Given the description of an element on the screen output the (x, y) to click on. 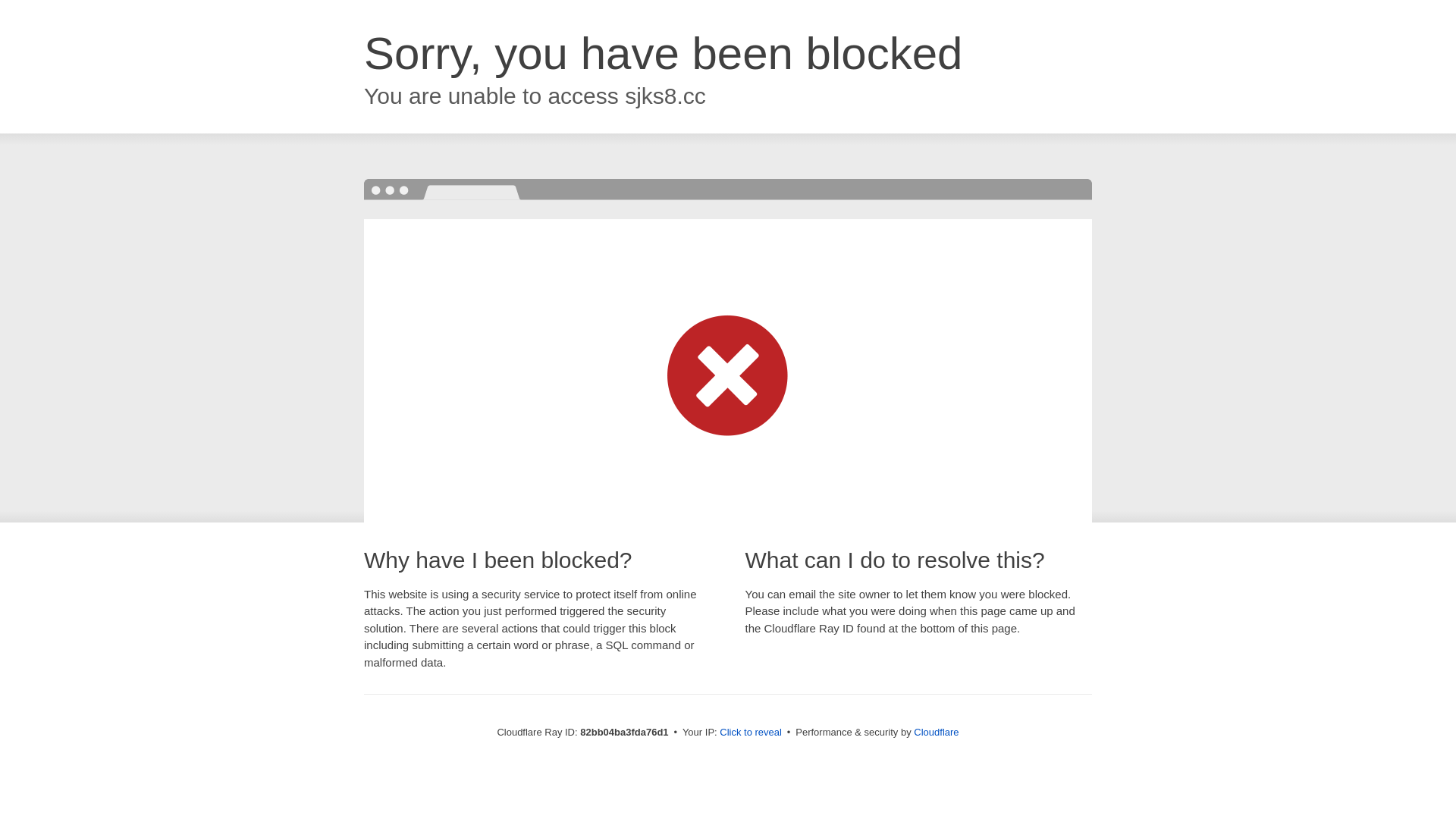
Click to reveal Element type: text (750, 732)
Cloudflare Element type: text (935, 731)
